Given the description of an element on the screen output the (x, y) to click on. 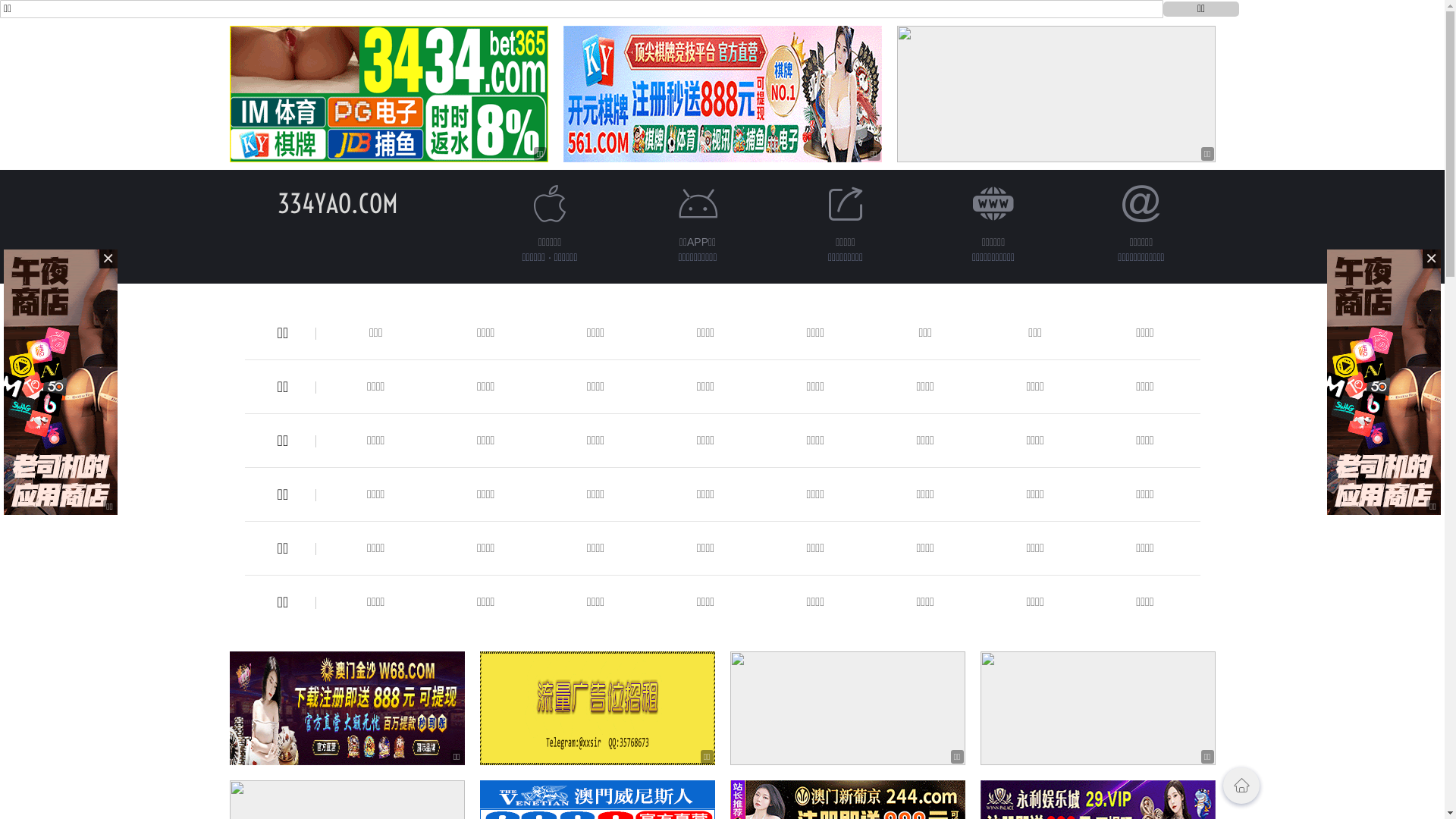
334YAO.COM Element type: text (337, 203)
